Given the description of an element on the screen output the (x, y) to click on. 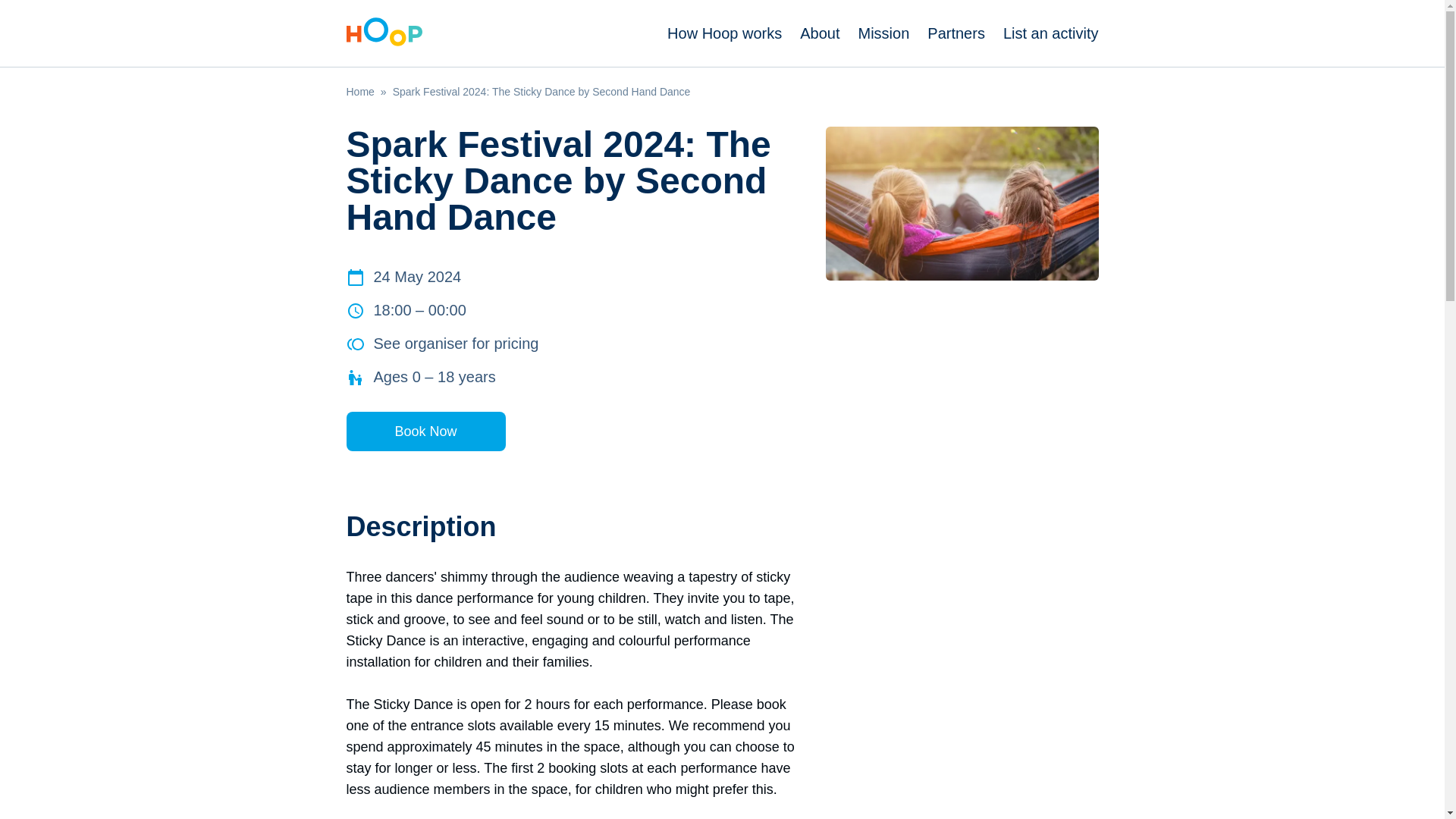
Home (360, 91)
Book Now (425, 431)
How Hoop works (723, 33)
List an activity (1051, 33)
About (819, 33)
Mission (884, 33)
Partners (956, 33)
